Given the description of an element on the screen output the (x, y) to click on. 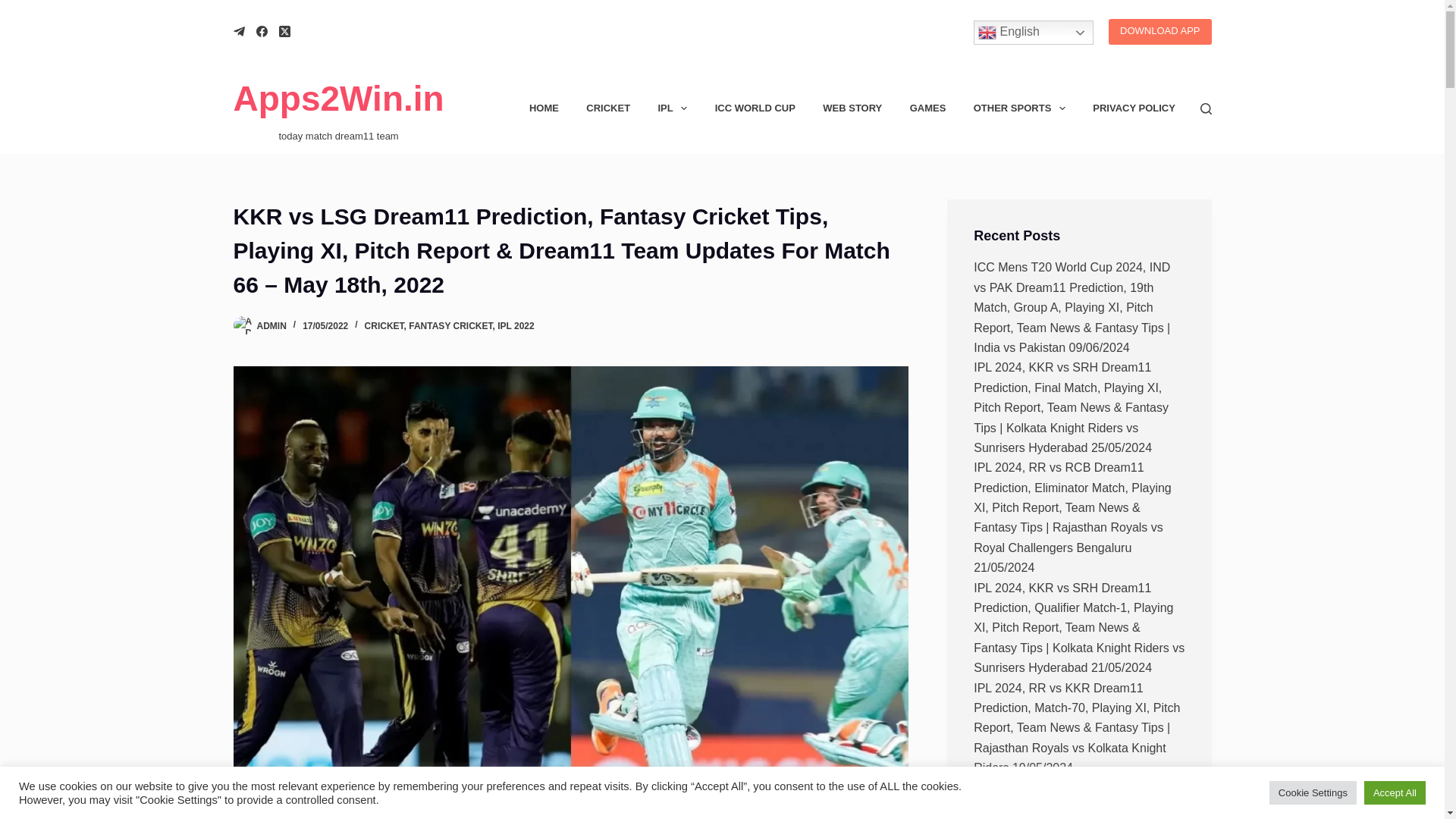
HOME (543, 108)
Skip to content (15, 7)
DOWNLOAD APP (1159, 31)
Apps2Win.in (338, 97)
English (1033, 32)
